Given the description of an element on the screen output the (x, y) to click on. 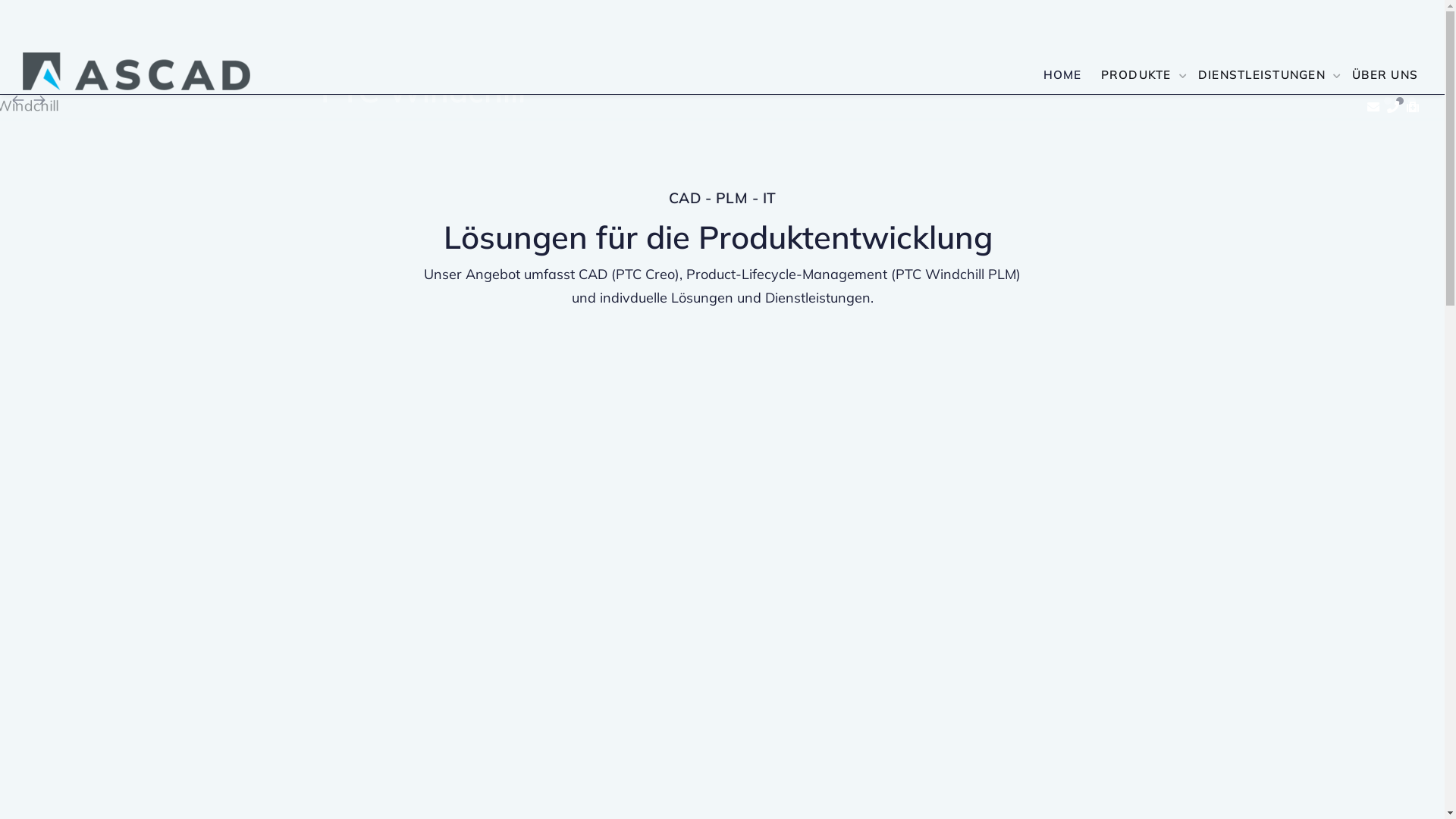
DIENSTLEISTUNGEN Element type: text (1265, 71)
Telephone Element type: text (1392, 106)
HOME Element type: text (1061, 71)
ASCAD Element type: hover (136, 71)
Kontakt Element type: text (1372, 106)
Support Element type: text (1411, 106)
PRODUKTE Element type: text (1139, 71)
